Given the description of an element on the screen output the (x, y) to click on. 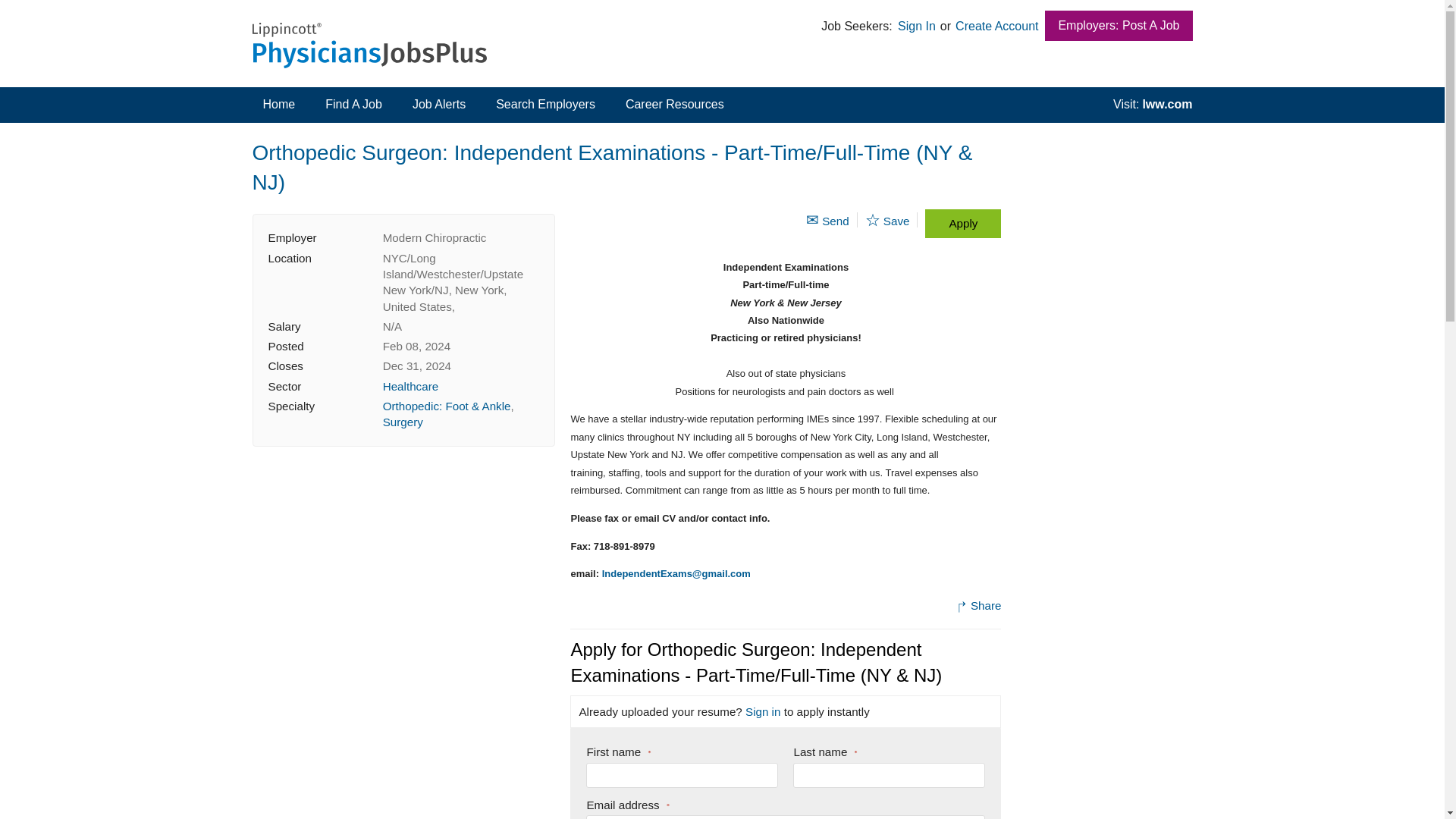
Surgery (402, 421)
Apply (962, 223)
Find A Job (353, 103)
Career Resources (674, 103)
Create Account (997, 25)
lww.com (1147, 103)
Apply (962, 223)
Employers: Post A Job (1118, 25)
Search Employers (544, 103)
Add to shortlist (872, 219)
Share (978, 605)
Save (887, 219)
Healthcare (410, 386)
Job Alerts (438, 103)
Physicians Jobs Plus (368, 44)
